Given the description of an element on the screen output the (x, y) to click on. 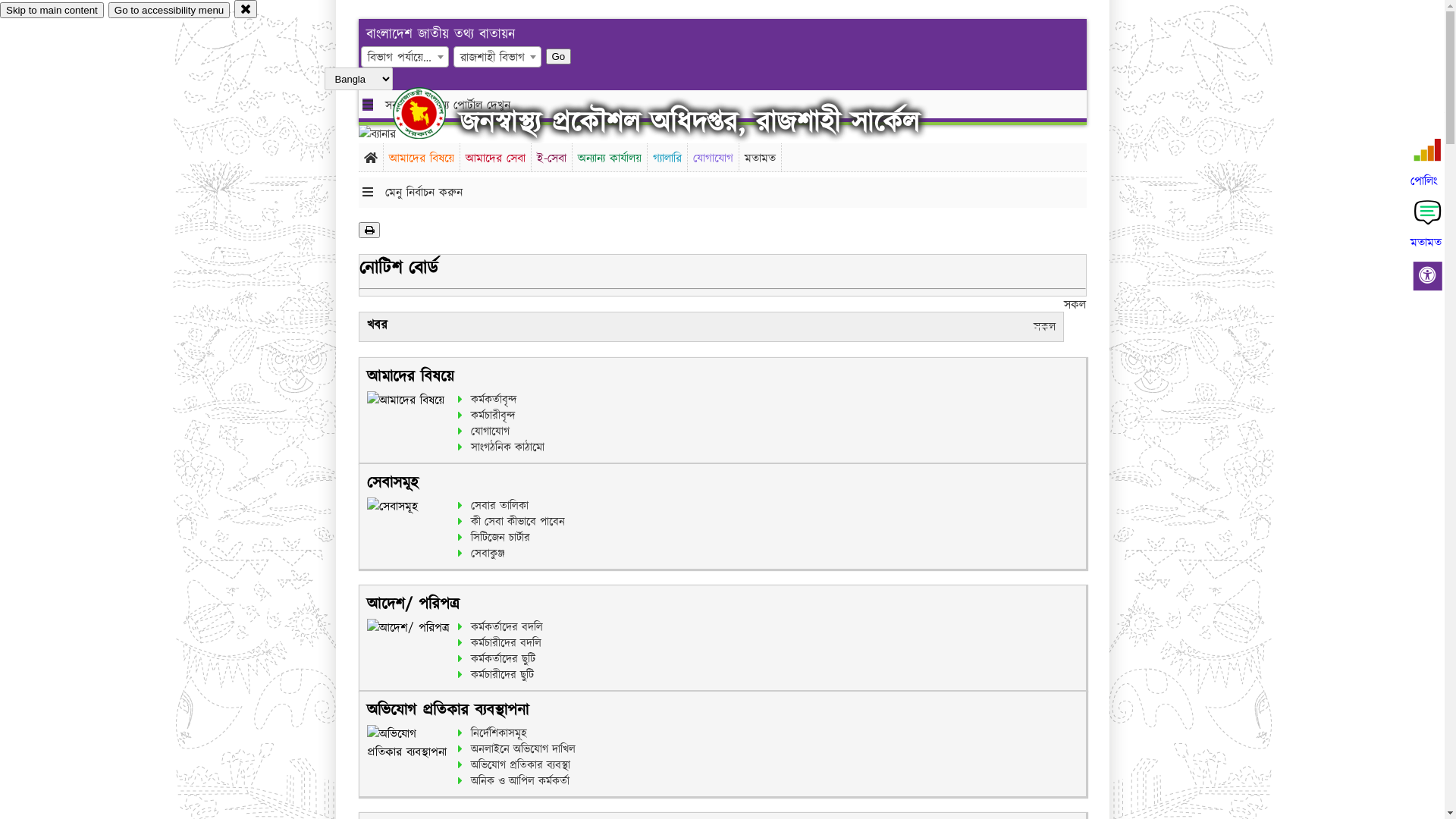
Go Element type: text (558, 56)

                
             Element type: hover (431, 112)
close Element type: hover (245, 9)
Go to accessibility menu Element type: text (168, 10)
Skip to main content Element type: text (51, 10)
